Given the description of an element on the screen output the (x, y) to click on. 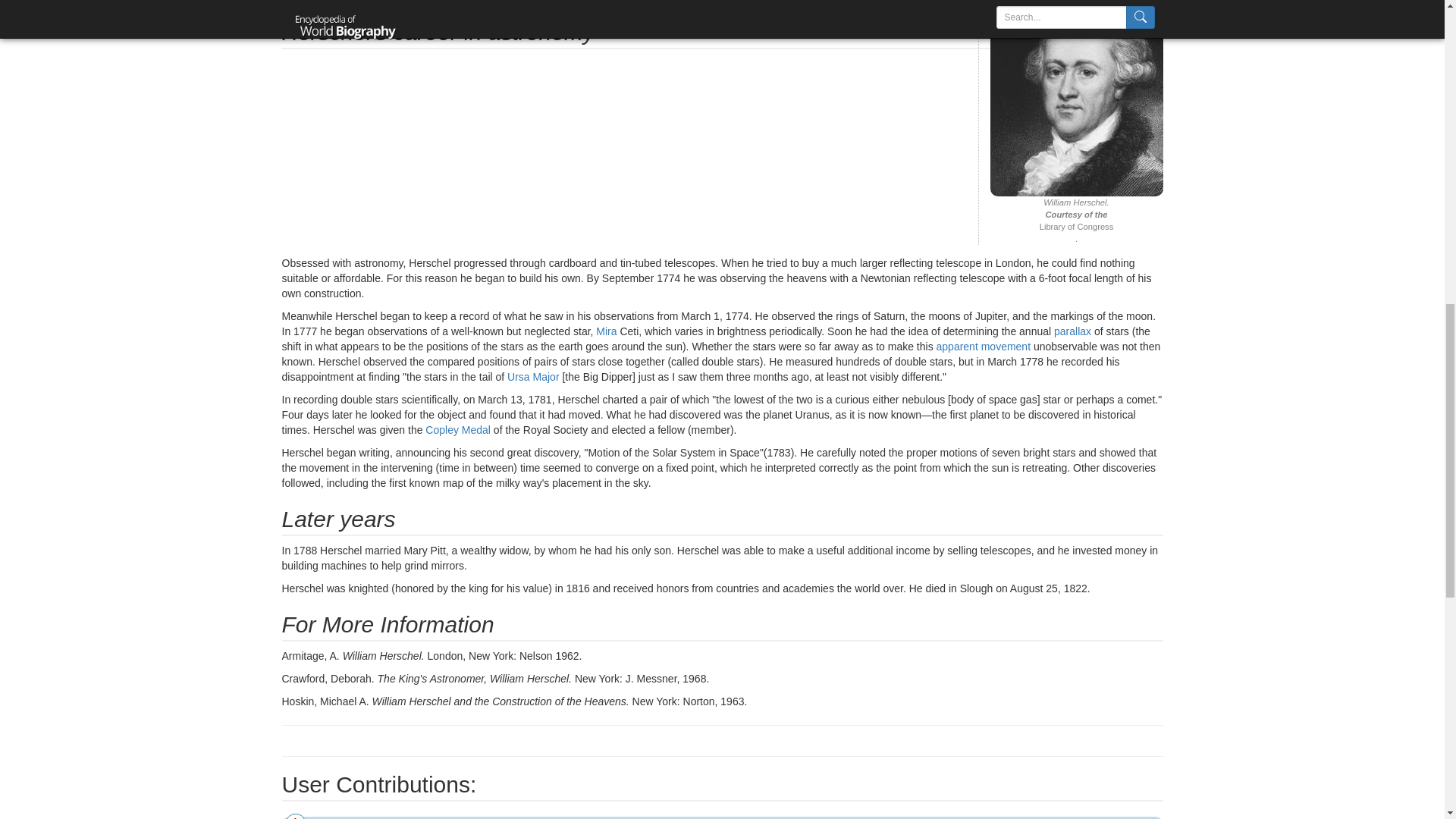
View 'parallax' definition from Wikipedia (1072, 331)
Copley Medal (457, 429)
View 'ursa major' definition from Wikipedia (532, 377)
apparent movement (983, 346)
View 'mira' definition from Wikipedia (605, 331)
Ursa Major (532, 377)
View 'copley medal' definition from Wikipedia (457, 429)
Mira (605, 331)
parallax (1072, 331)
View 'apparent movement' definition from Wikipedia (983, 346)
